Given the description of an element on the screen output the (x, y) to click on. 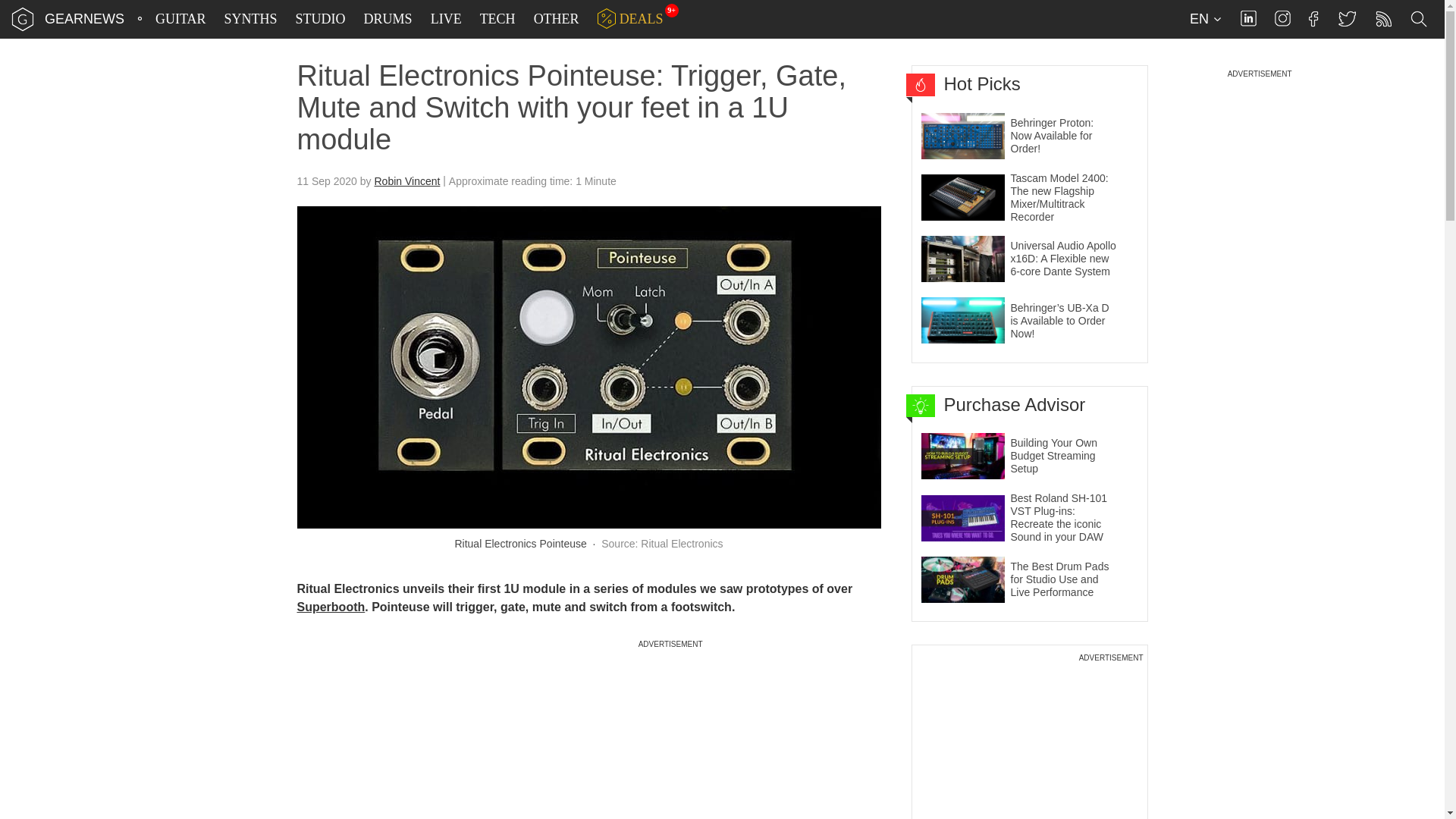
TECH (497, 19)
OTHER (556, 19)
LinkedIn (1248, 18)
LIVE (445, 19)
Instagram (1282, 18)
GUITAR (181, 19)
GEARNEWS (84, 18)
STUDIO (320, 19)
Approximate reading time: (531, 180)
DEALS (630, 19)
DRUMS (387, 19)
SYNTHS (250, 19)
